Given the description of an element on the screen output the (x, y) to click on. 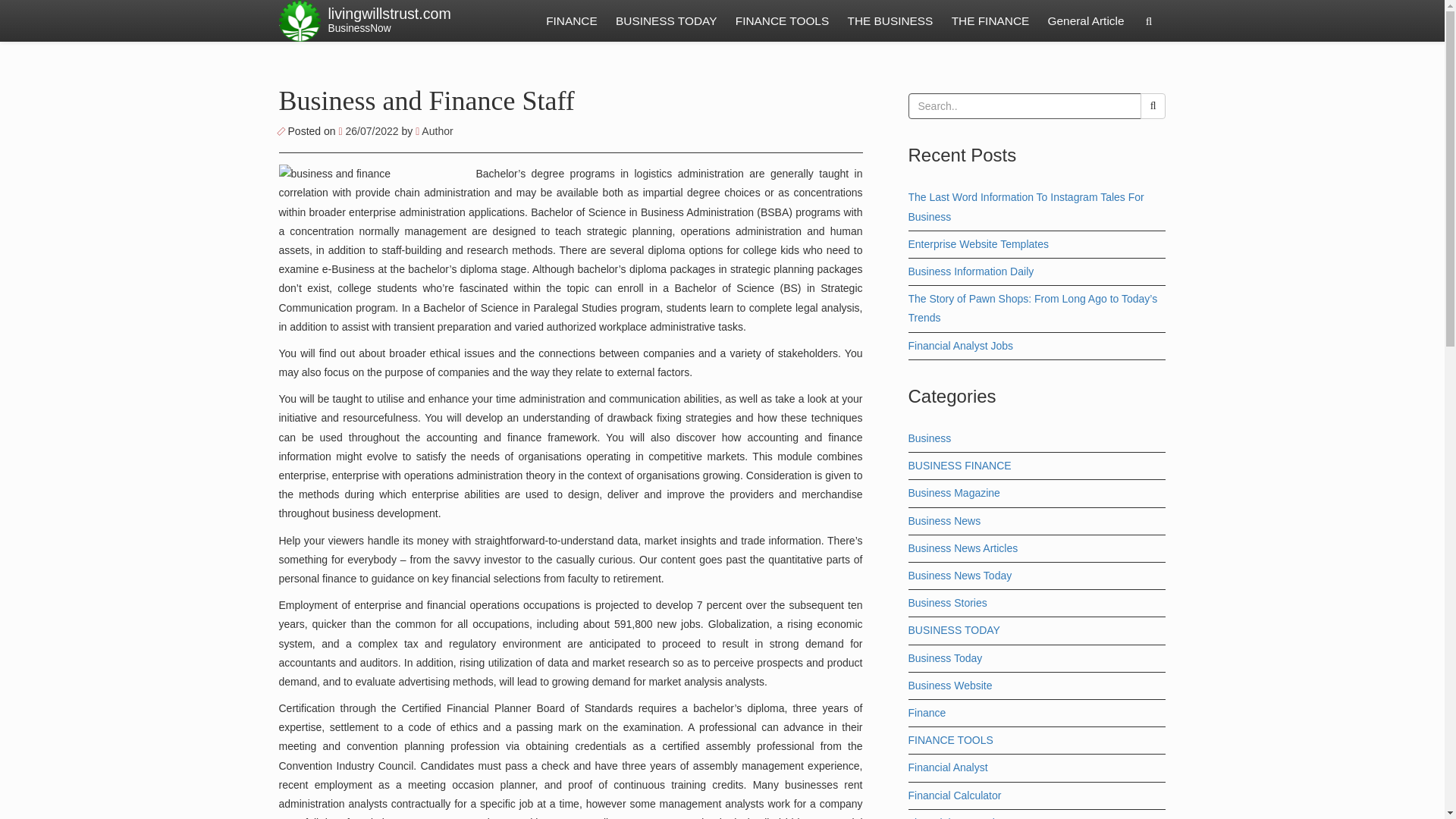
THE BUSINESS (890, 20)
THE FINANCE (989, 20)
FINANCE (388, 20)
12:57 (571, 20)
Business and Finance Staff (369, 131)
General Article (427, 100)
FINANCE TOOLS (1086, 20)
Author (781, 20)
BUSINESS TODAY (433, 131)
